Given the description of an element on the screen output the (x, y) to click on. 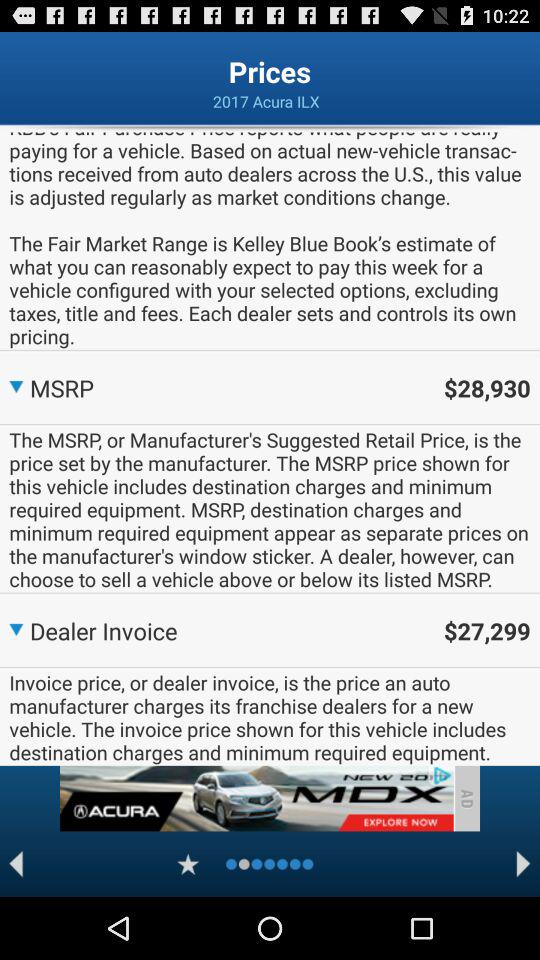
go back (16, 864)
